Given the description of an element on the screen output the (x, y) to click on. 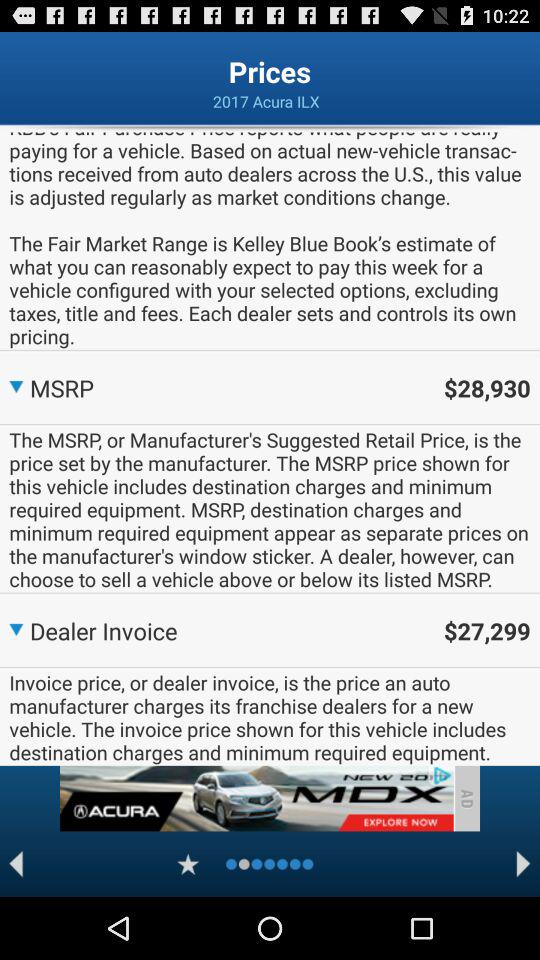
go back (16, 864)
